Given the description of an element on the screen output the (x, y) to click on. 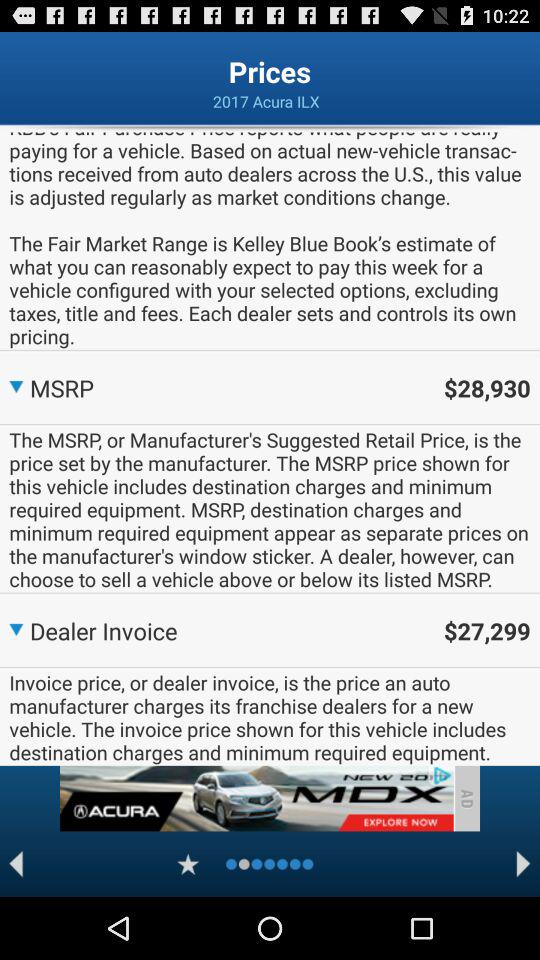
go back (16, 864)
